Given the description of an element on the screen output the (x, y) to click on. 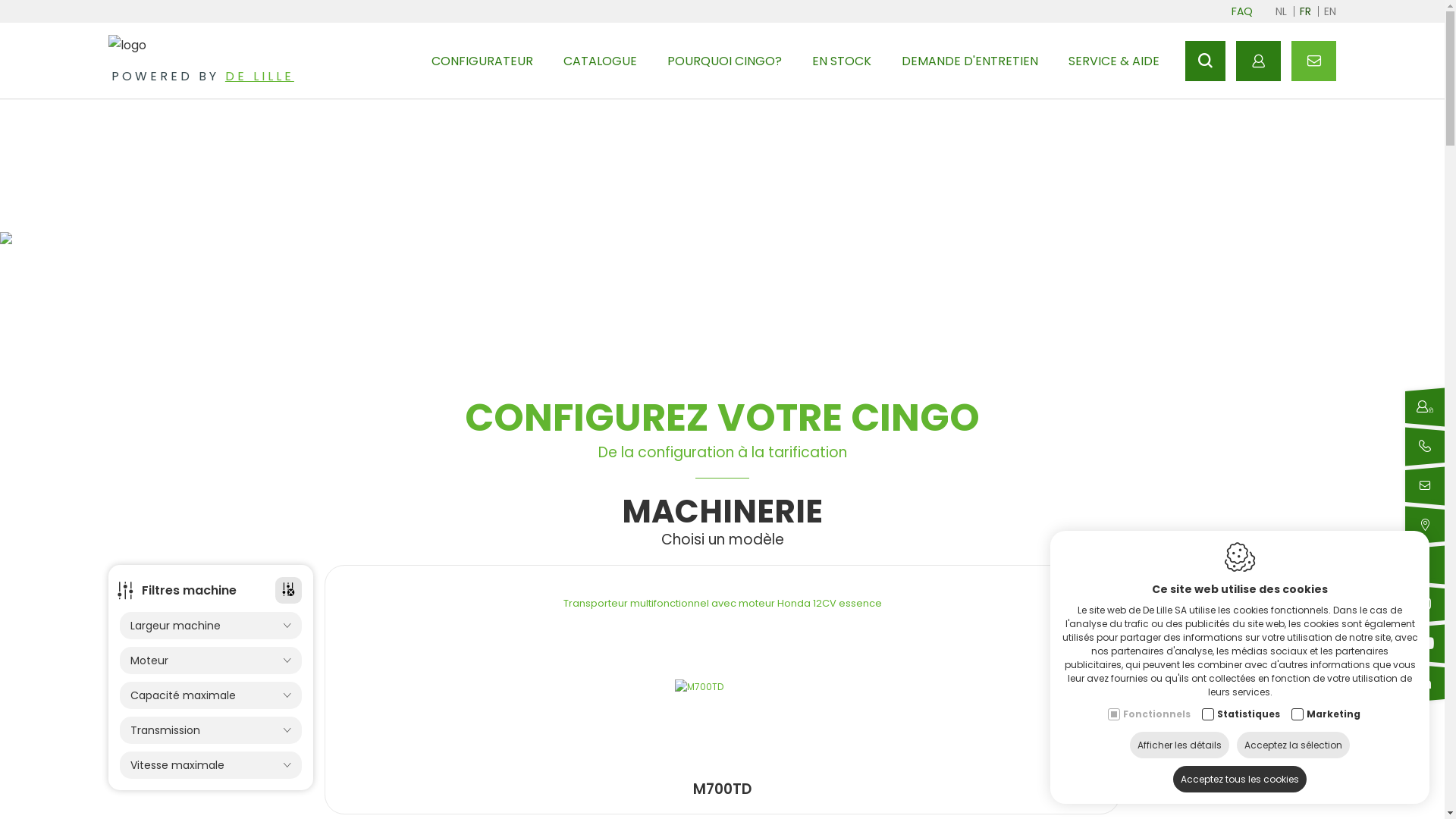
EN Element type: text (1330, 10)
POURQUOI CINGO? Element type: text (724, 61)
NL Element type: text (1280, 10)
Vitesse maximale Element type: text (210, 764)
FAQ Element type: text (1241, 11)
Transmission Element type: text (210, 729)
CONFIGURATEUR Element type: text (482, 61)
Moteur Element type: text (210, 660)
Acceptez tous les cookies Element type: text (1239, 778)
CATALOGUE Element type: text (600, 61)
Largeur machine Element type: text (210, 625)
EN STOCK Element type: text (841, 61)
DEMANDE D'ENTRETIEN Element type: text (969, 61)
POWERED BY DE LILLE Element type: text (202, 75)
FR Element type: text (1305, 10)
SERVICE & AIDE Element type: text (1113, 61)
Rechercher Element type: hover (1205, 60)
